Given the description of an element on the screen output the (x, y) to click on. 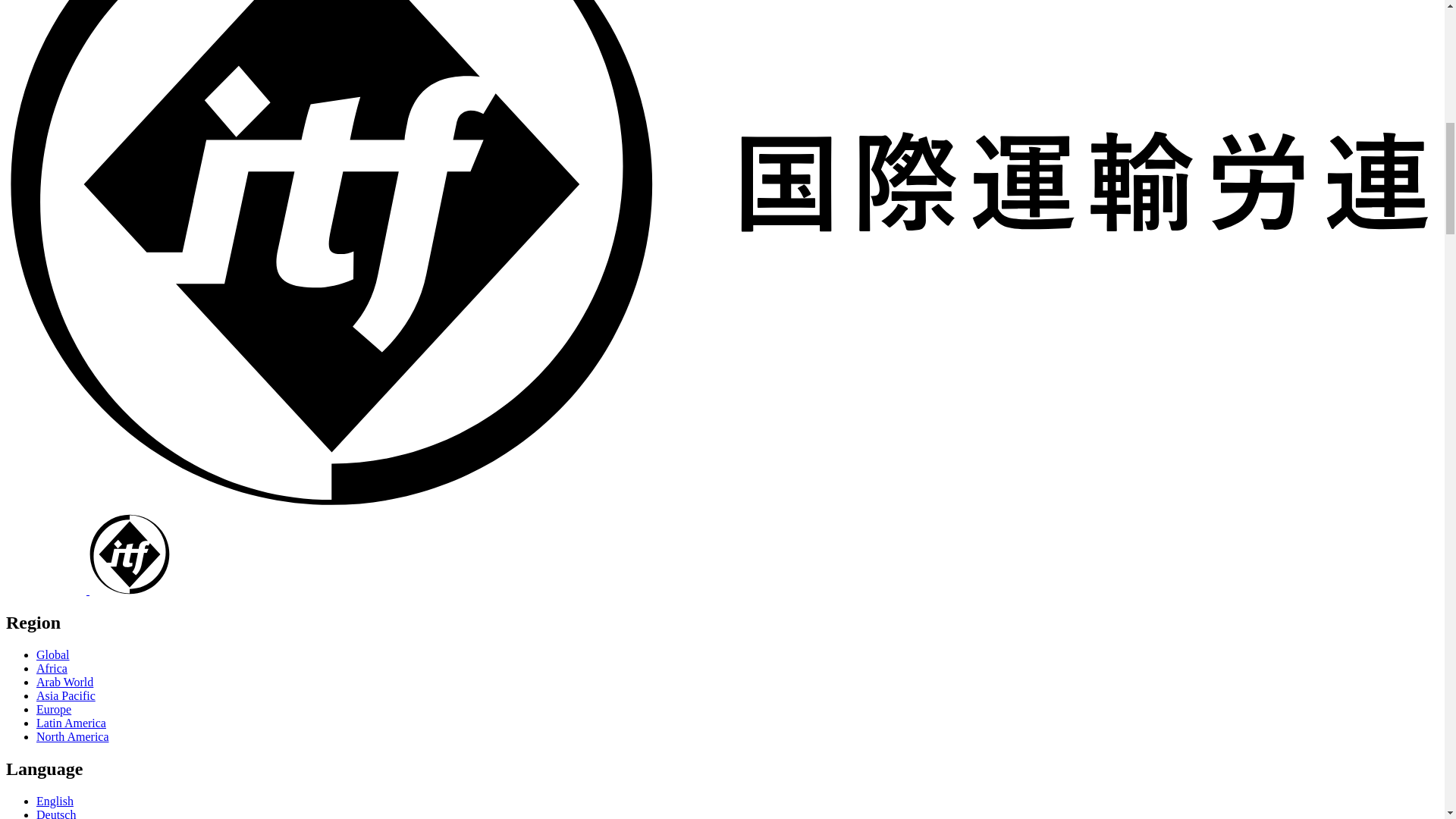
Deutsch (55, 813)
Arab World (64, 681)
Africa (51, 667)
Latin America (71, 722)
Global (52, 654)
Europe (53, 708)
North America (72, 736)
Asia Pacific (66, 695)
English (55, 800)
